Given the description of an element on the screen output the (x, y) to click on. 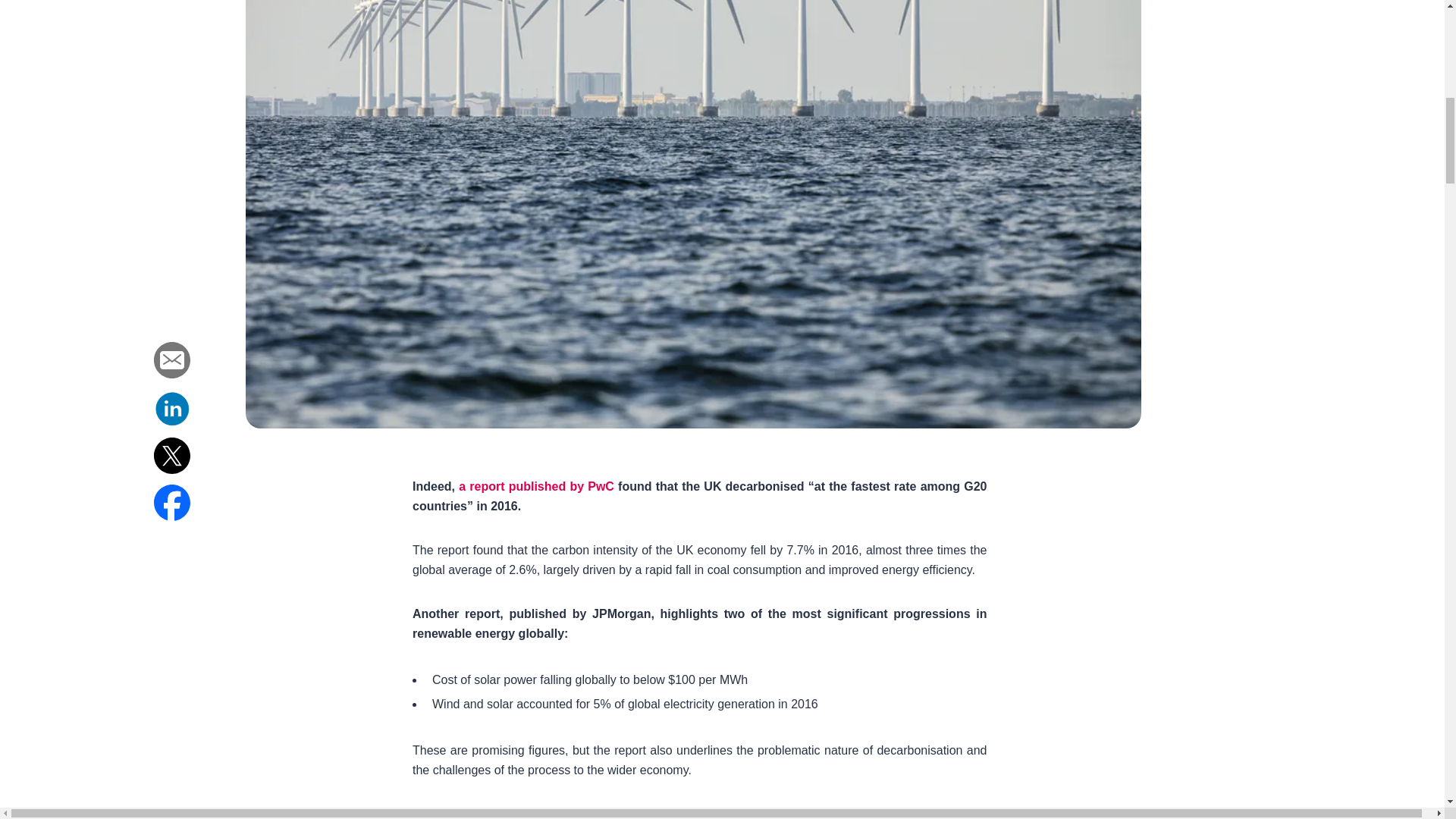
a report published by PwC (536, 486)
